Given the description of an element on the screen output the (x, y) to click on. 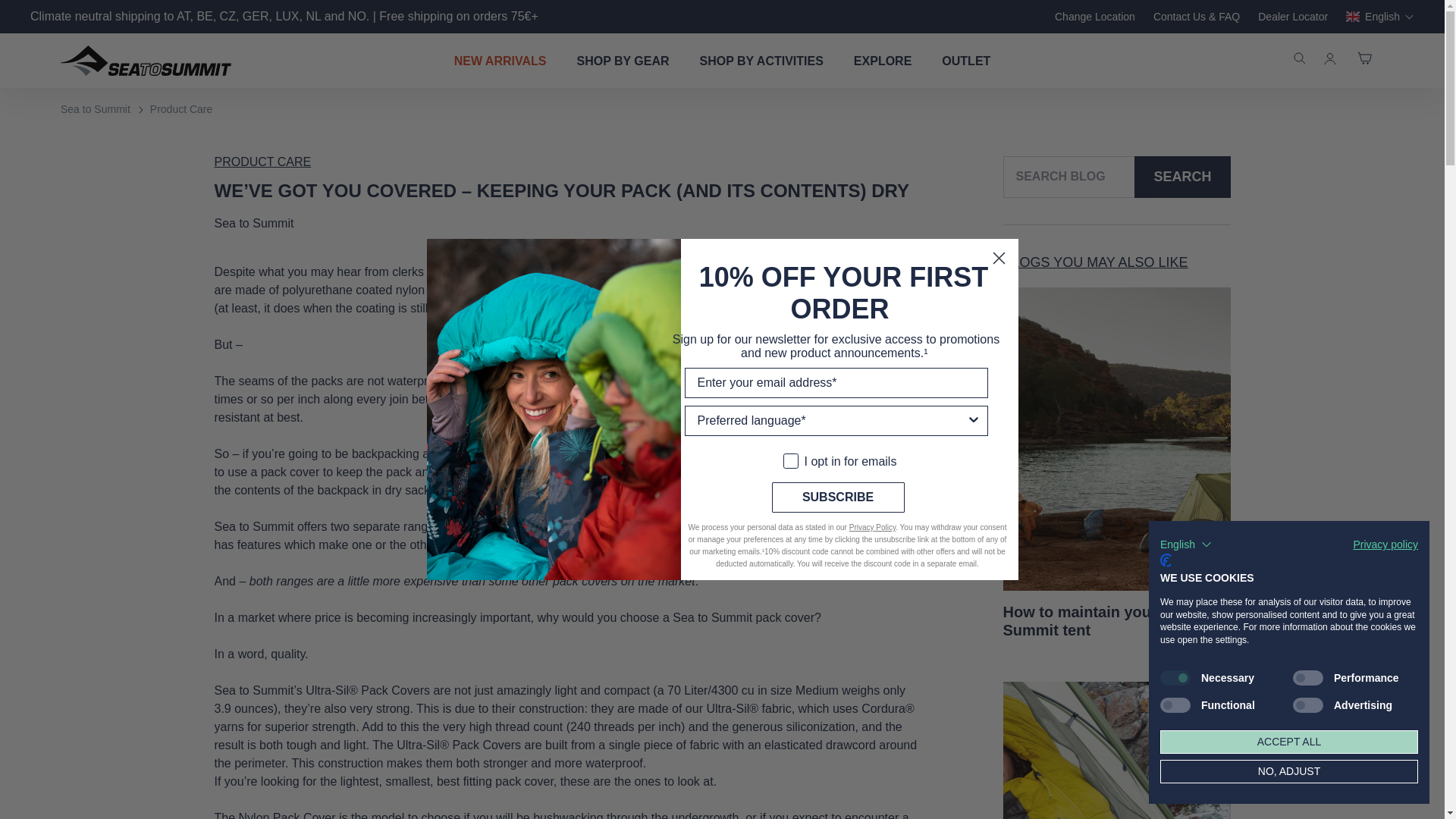
Nylon Waterproof Backpack Cover (768, 526)
Modular packing in your backpack (595, 490)
SHOP BY GEAR (622, 60)
Dealer Locator (1292, 16)
Change Location (1094, 16)
on (788, 448)
NEW ARRIVALS (500, 60)
Sea to Summit (96, 109)
